Given the description of an element on the screen output the (x, y) to click on. 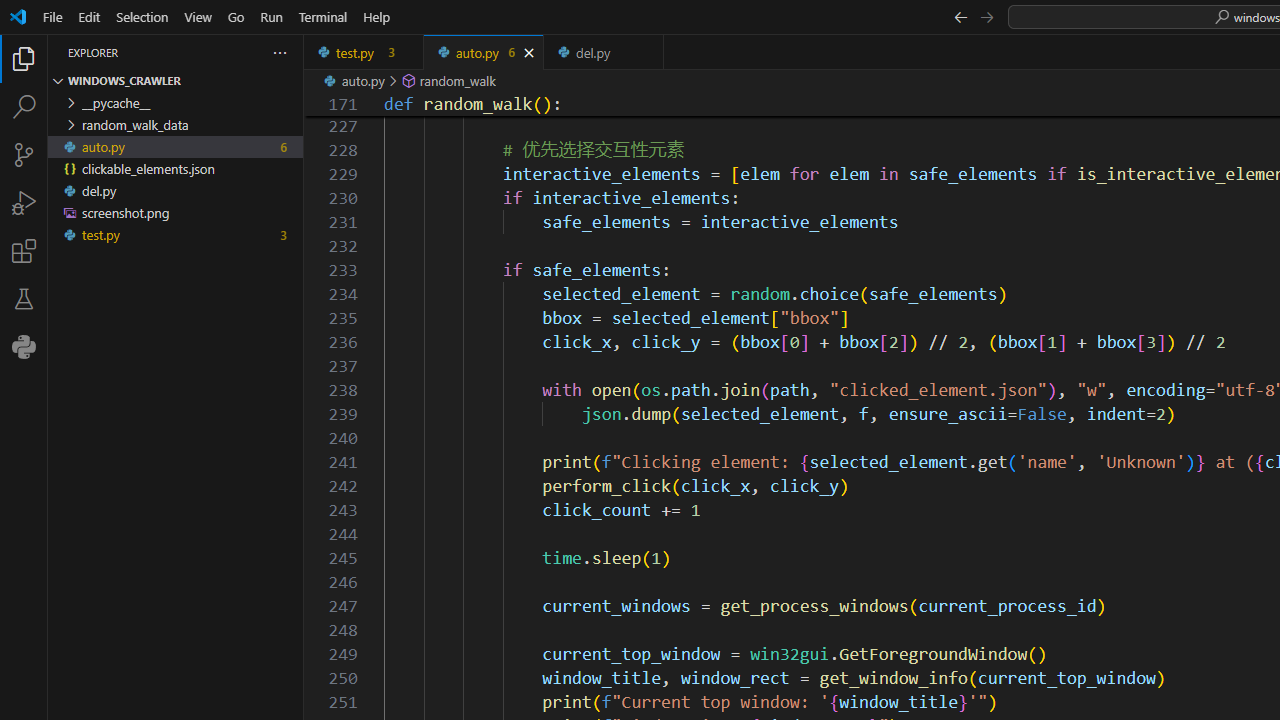
test.py (363, 52)
Go Back (Alt+LeftArrow) (960, 16)
Edit (89, 16)
Selection (141, 16)
Close (Ctrl+F4) (648, 52)
Explorer Section: windows_crawler (175, 80)
Views and More Actions... (279, 52)
File (52, 16)
Run (271, 16)
Testing (24, 299)
Explorer actions (208, 52)
auto.py (483, 52)
